Given the description of an element on the screen output the (x, y) to click on. 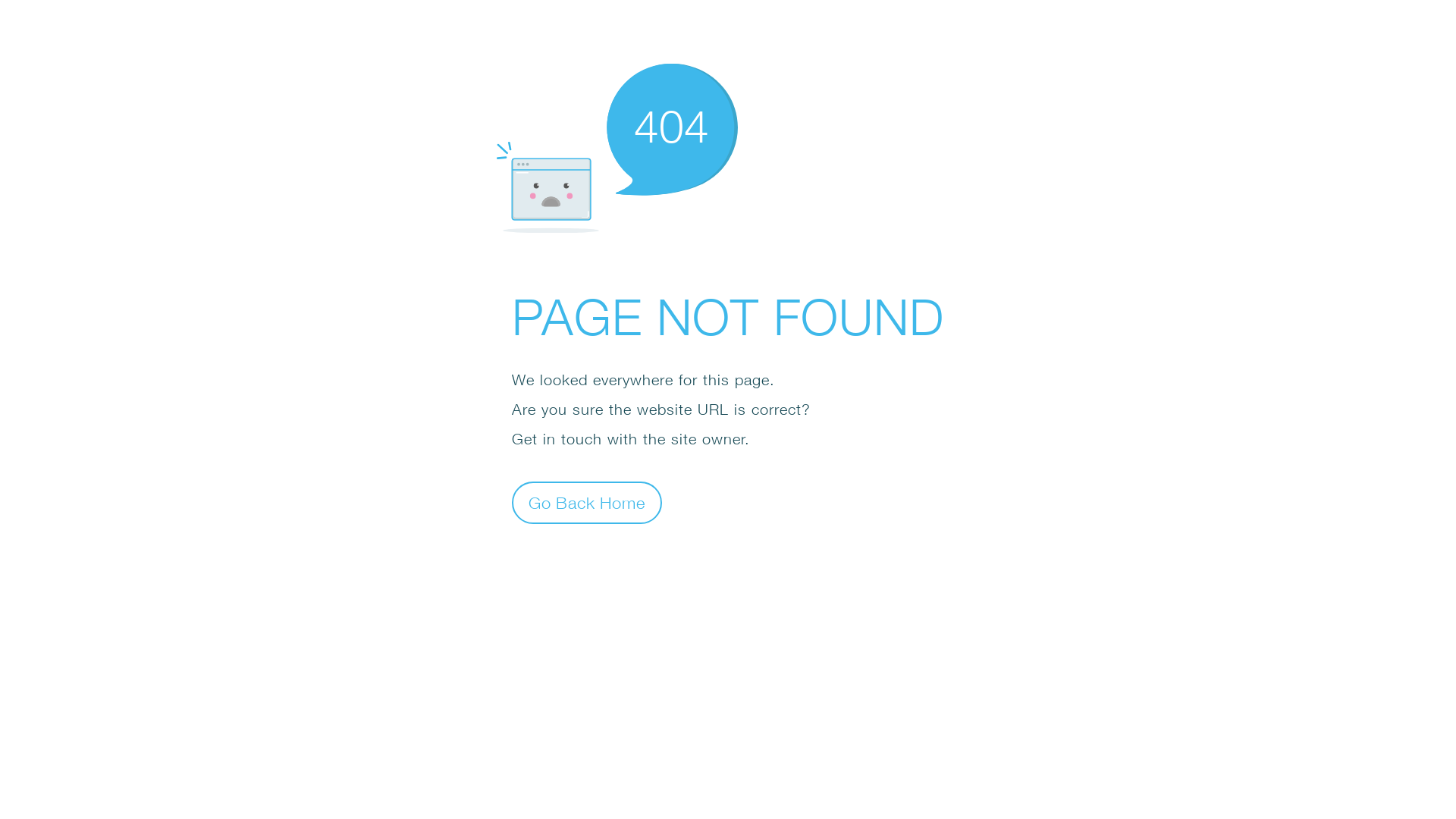
Go Back Home Element type: text (586, 502)
